Given the description of an element on the screen output the (x, y) to click on. 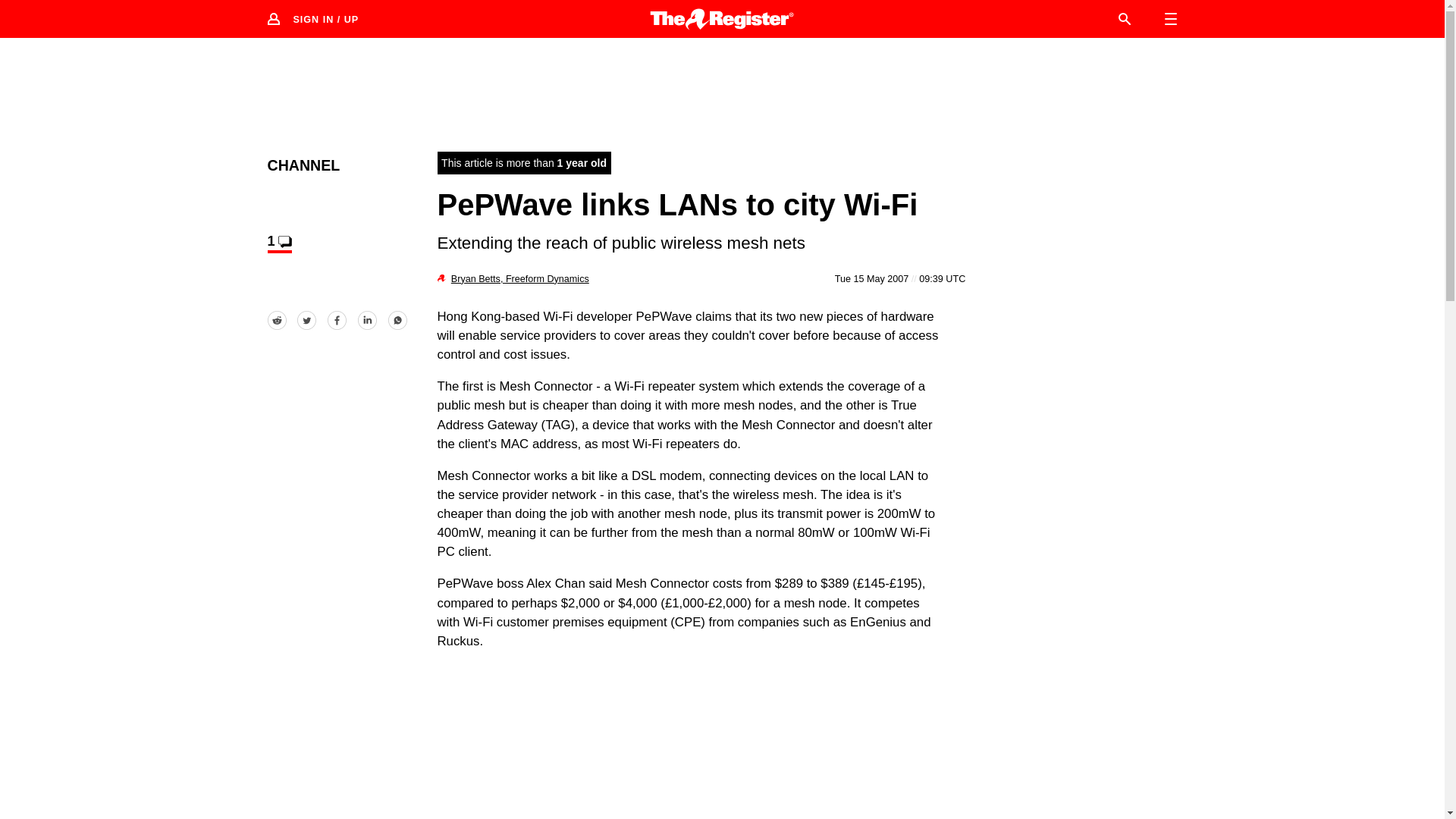
Read more by this author (520, 278)
View comments on this article (278, 243)
